Given the description of an element on the screen output the (x, y) to click on. 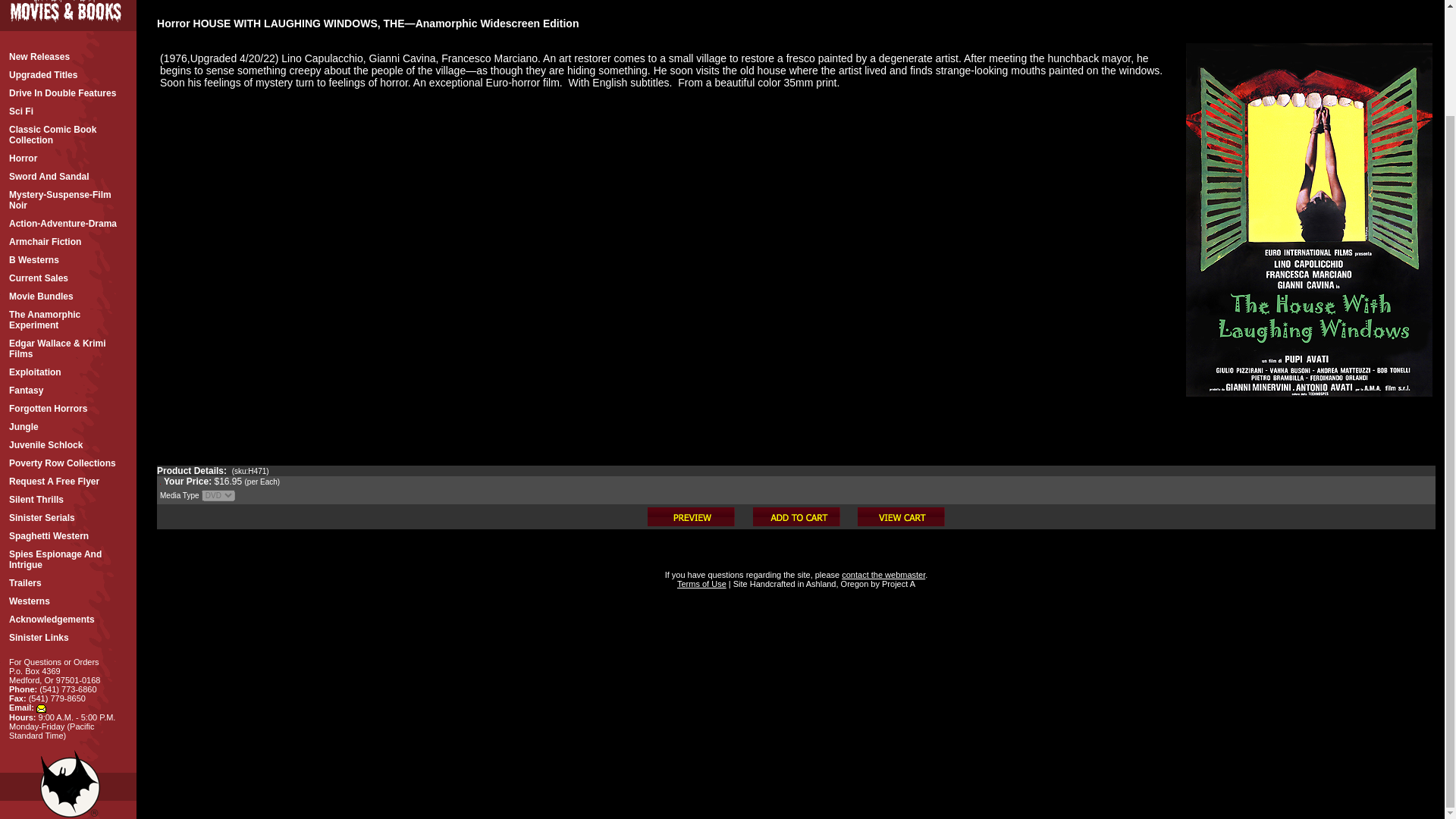
Juvenile Schlock (68, 444)
Fantasy (68, 390)
Upgraded Titles (68, 75)
Forgotten Horrors (68, 408)
Horror (68, 158)
B Westerns (68, 259)
Spies Espionage And Intrigue (68, 559)
Sinister Links (68, 637)
Sci Fi (68, 111)
Sword And Sandal (68, 176)
Current Sales (68, 278)
New Releases (68, 56)
Classic Comic Book Collection (68, 134)
Request A Free Flyer (68, 481)
Trailers (68, 583)
